Given the description of an element on the screen output the (x, y) to click on. 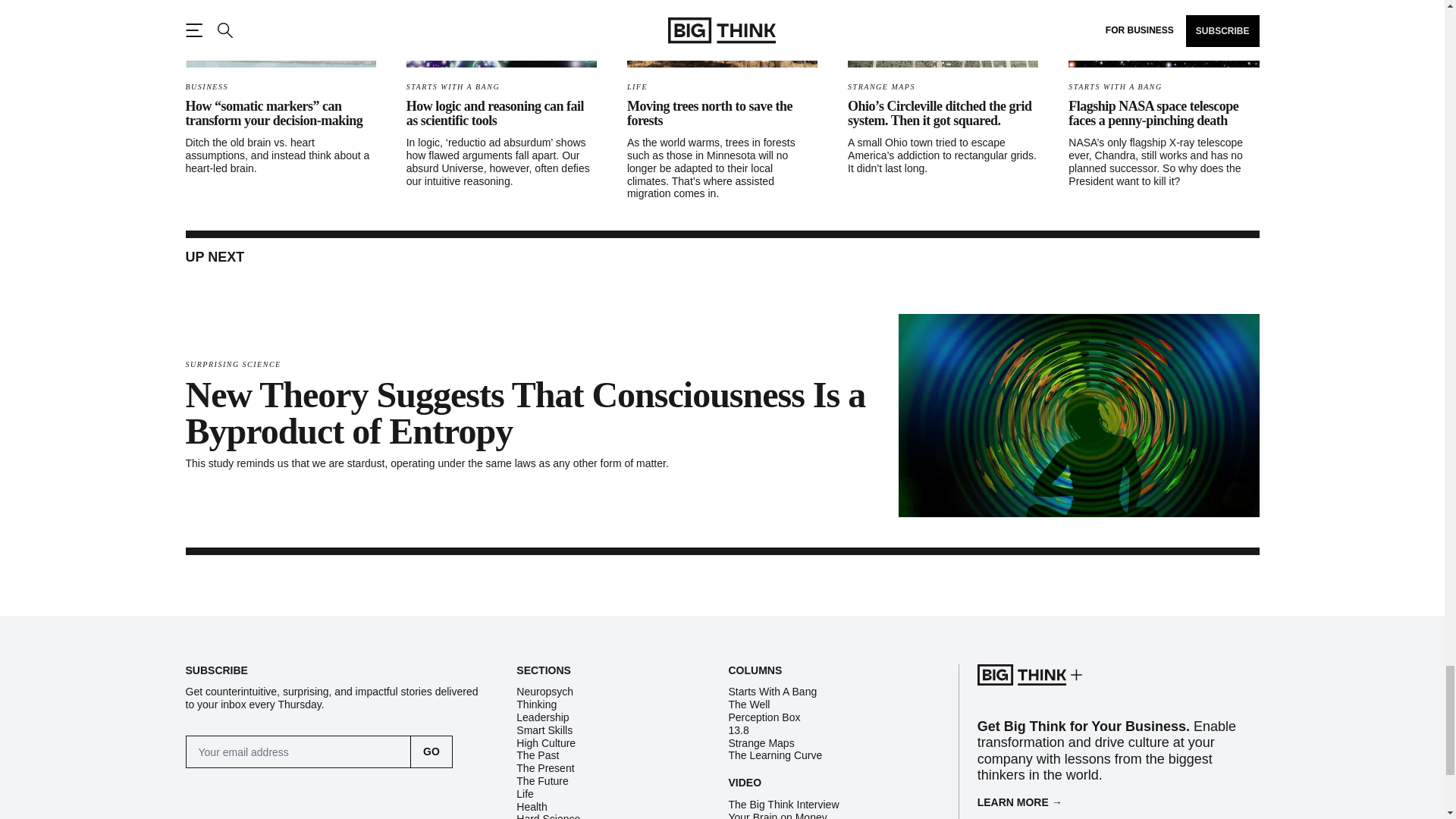
Go (431, 751)
